Given the description of an element on the screen output the (x, y) to click on. 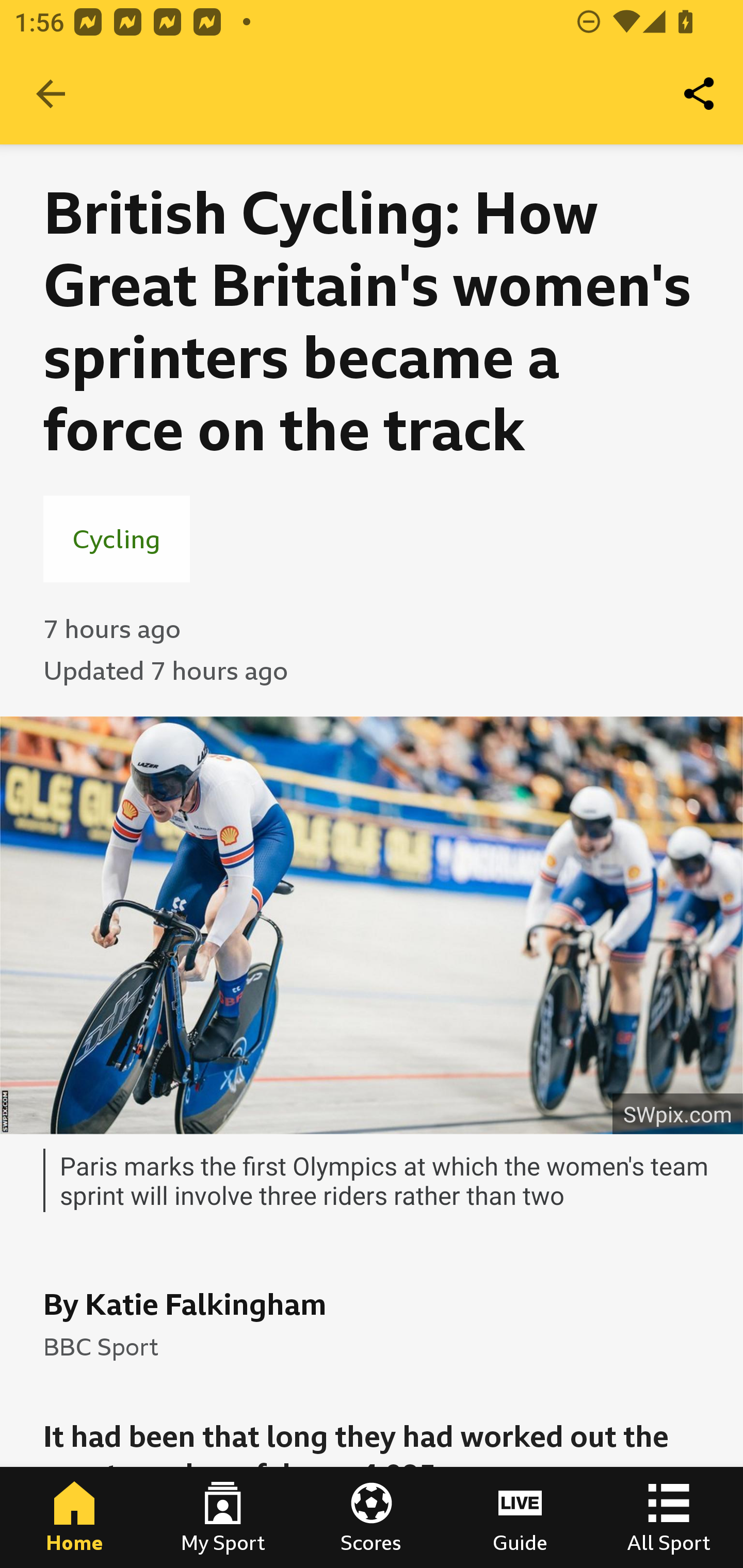
Navigate up (50, 93)
Share (699, 93)
Cycling (116, 538)
My Sport (222, 1517)
Scores (371, 1517)
Guide (519, 1517)
All Sport (668, 1517)
